Given the description of an element on the screen output the (x, y) to click on. 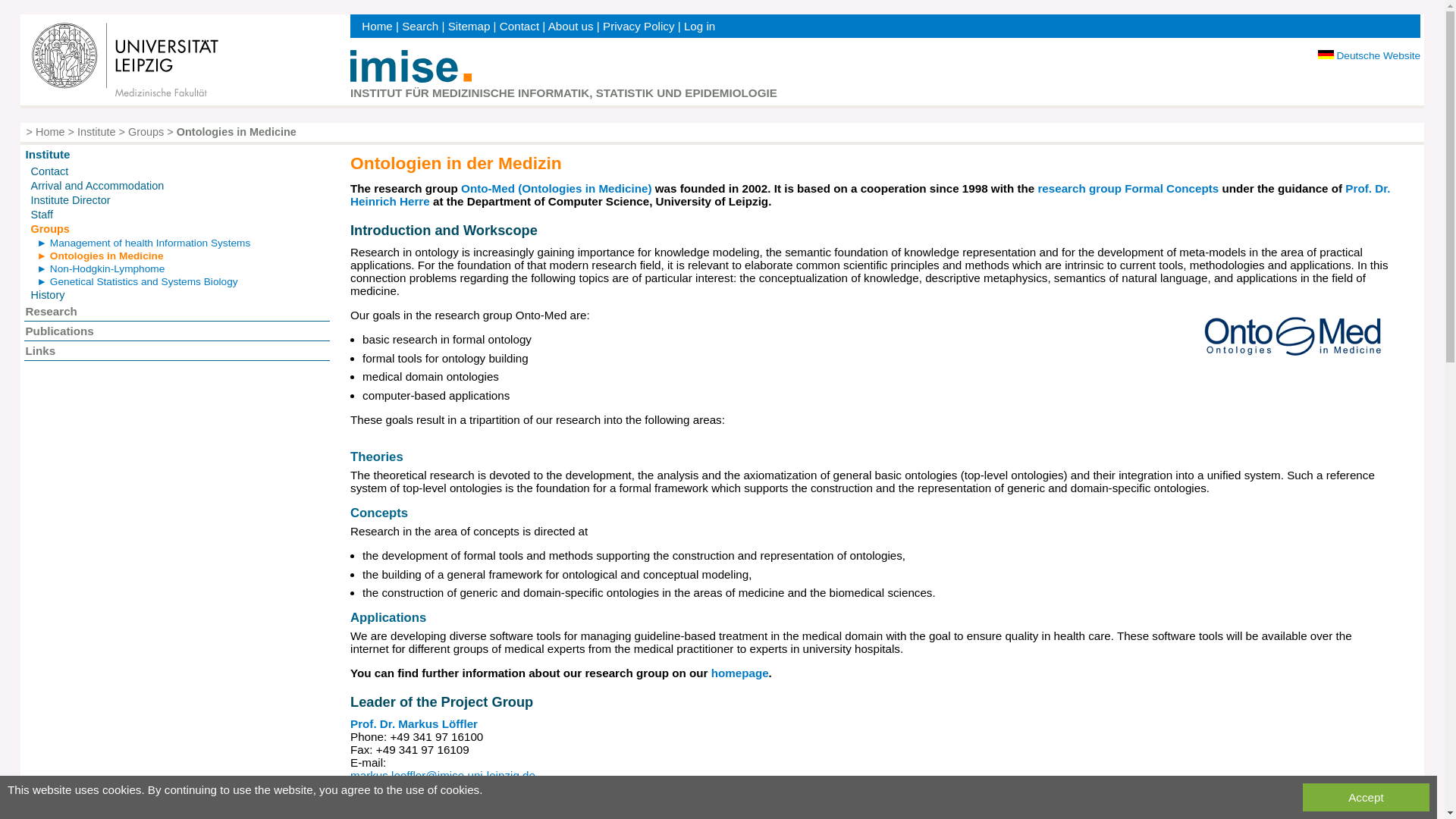
Publications (58, 330)
Staff (41, 214)
Institute (96, 132)
Links (39, 350)
Overview of research groups (49, 228)
research group Formal Concepts (1127, 187)
Log in (699, 25)
Presentation of the project group (100, 255)
Overview of all kinds of members of staff (41, 214)
Groups (145, 132)
To the homepage of this website (410, 78)
homepage (739, 672)
Home (377, 25)
Institute Director (70, 200)
